Given the description of an element on the screen output the (x, y) to click on. 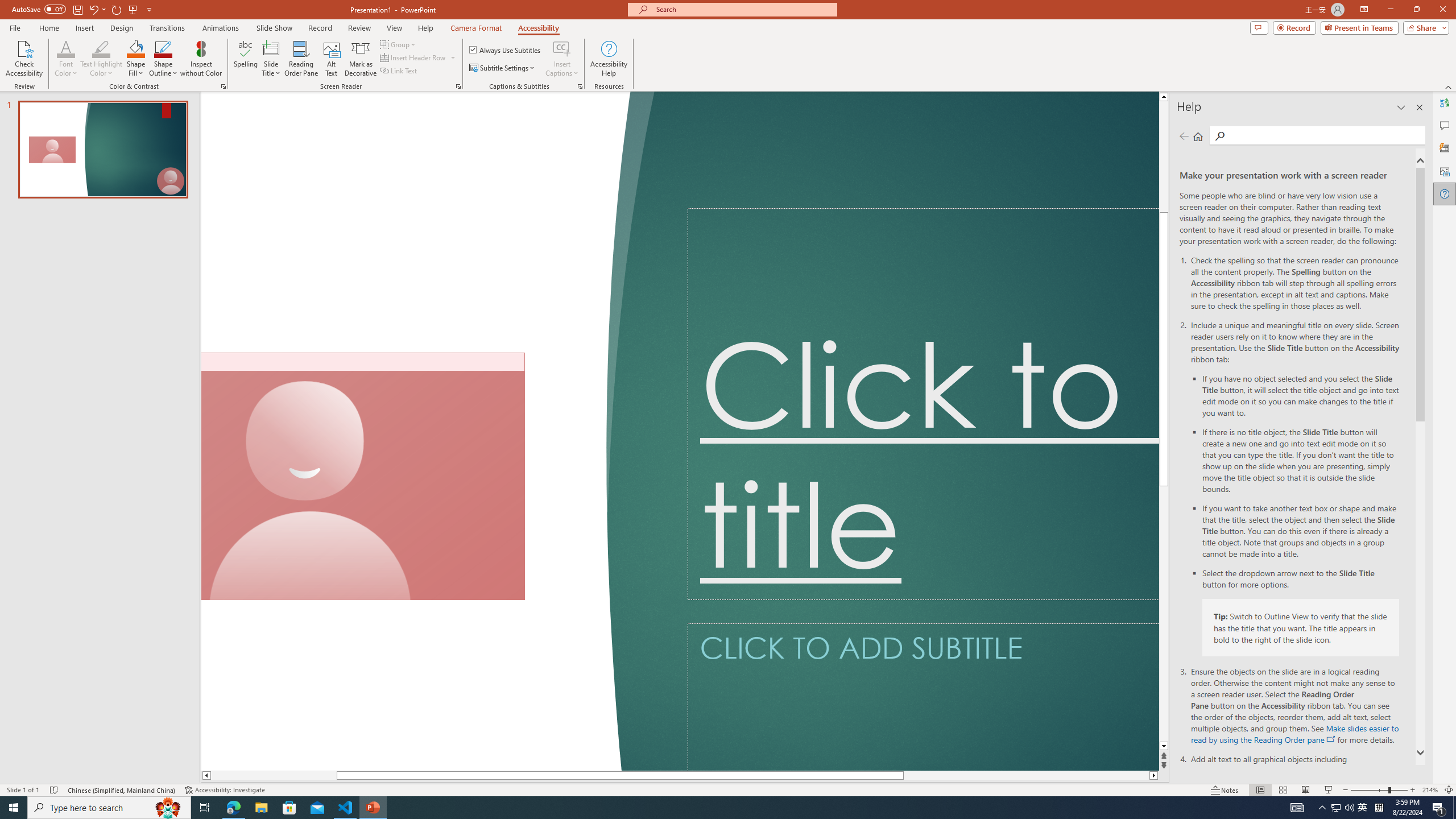
Color & Contrast (223, 85)
Reading Order Pane (301, 58)
